Given the description of an element on the screen output the (x, y) to click on. 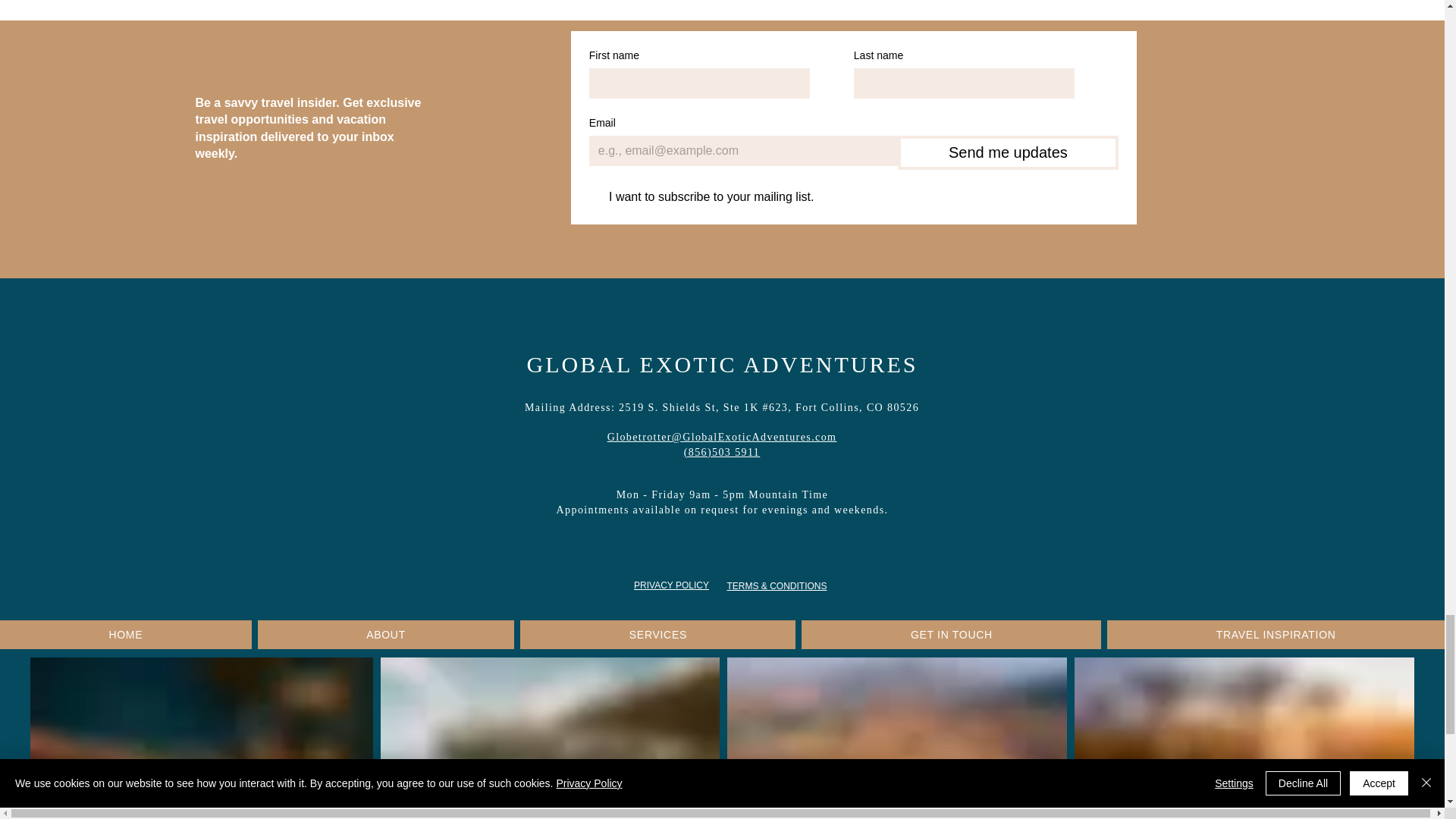
Send me updates (1008, 152)
PRIVACY POLICY (671, 584)
HOME (125, 634)
GLOBAL EXOTIC ADVENTURES (722, 364)
